Given the description of an element on the screen output the (x, y) to click on. 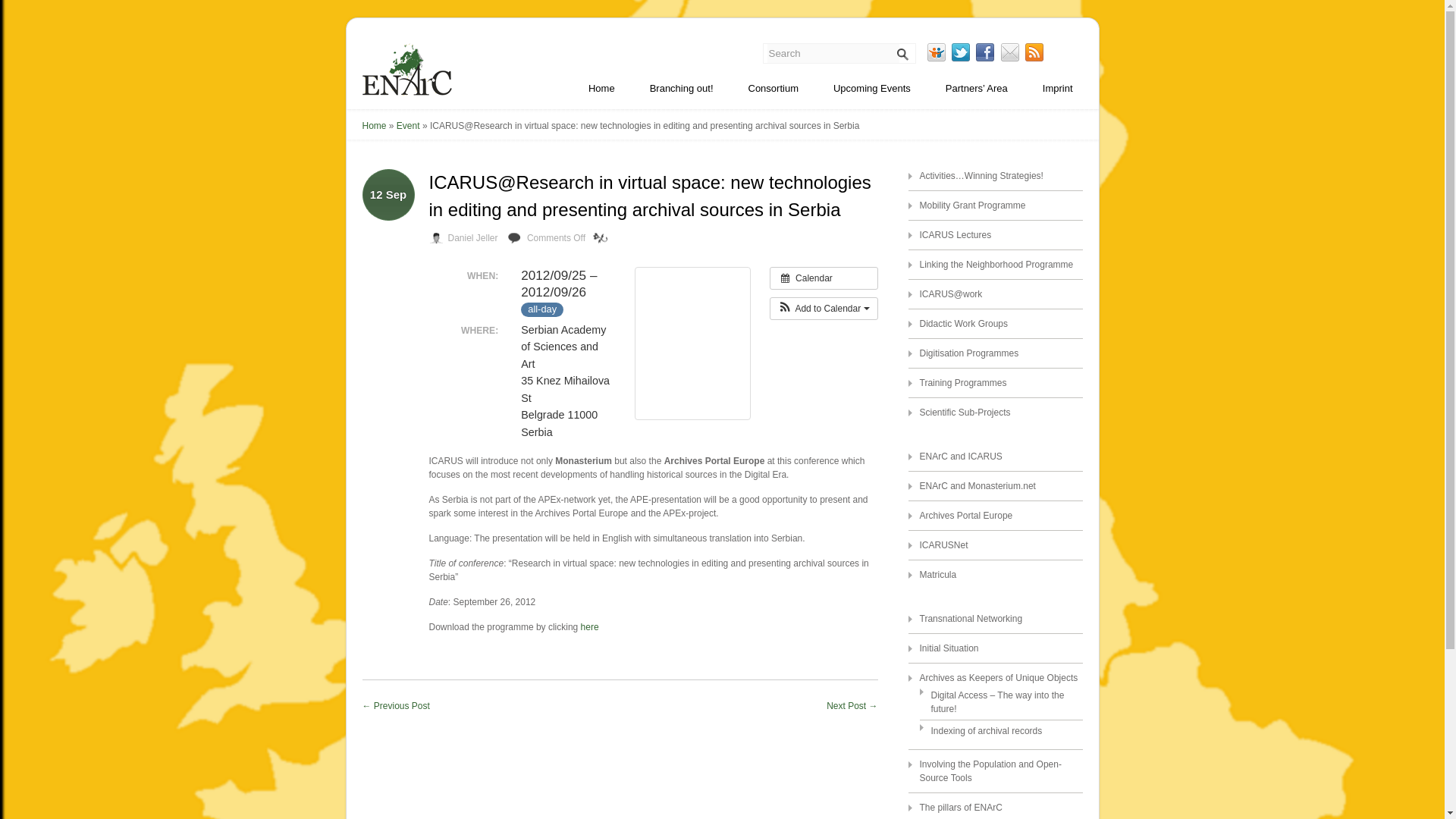
Event (408, 125)
Home (601, 90)
Upcoming Events (872, 90)
Daniel Jeller (471, 237)
Contact Email Address (1010, 52)
Search (833, 53)
Imprint (1057, 90)
Branching out! (681, 90)
View all events (823, 277)
ICARUS Slideshare account (935, 52)
ICARUS Facebook Fanpage (984, 52)
Consortium (773, 90)
ICARUS Twitter Account (960, 52)
Calendar (823, 277)
Posts by Daniel Jeller (471, 237)
